Given the description of an element on the screen output the (x, y) to click on. 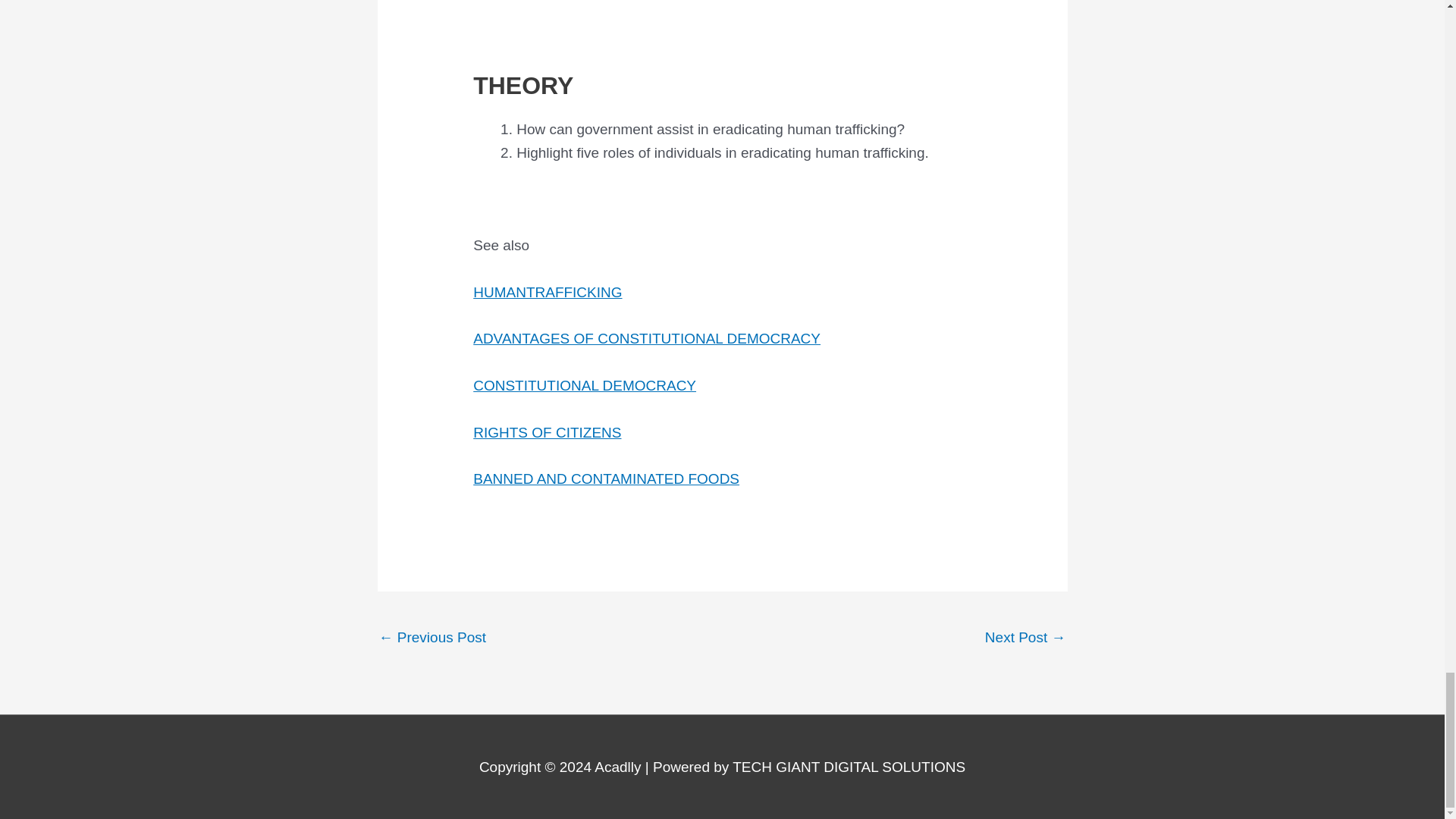
HUMANTRAFFICKING (432, 638)
HUMANTRAFFICKING (547, 292)
WOMEN TRAFFICKING AND CHILD LABOUR ERADICATION FOUNDATION (1025, 638)
ADVANTAGES OF CONSTITUTIONAL DEMOCRACY (647, 338)
CONSTITUTIONAL DEMOCRACY (584, 385)
RIGHTS OF CITIZENS (547, 432)
BANNED AND CONTAMINATED FOODS (606, 478)
